Given the description of an element on the screen output the (x, y) to click on. 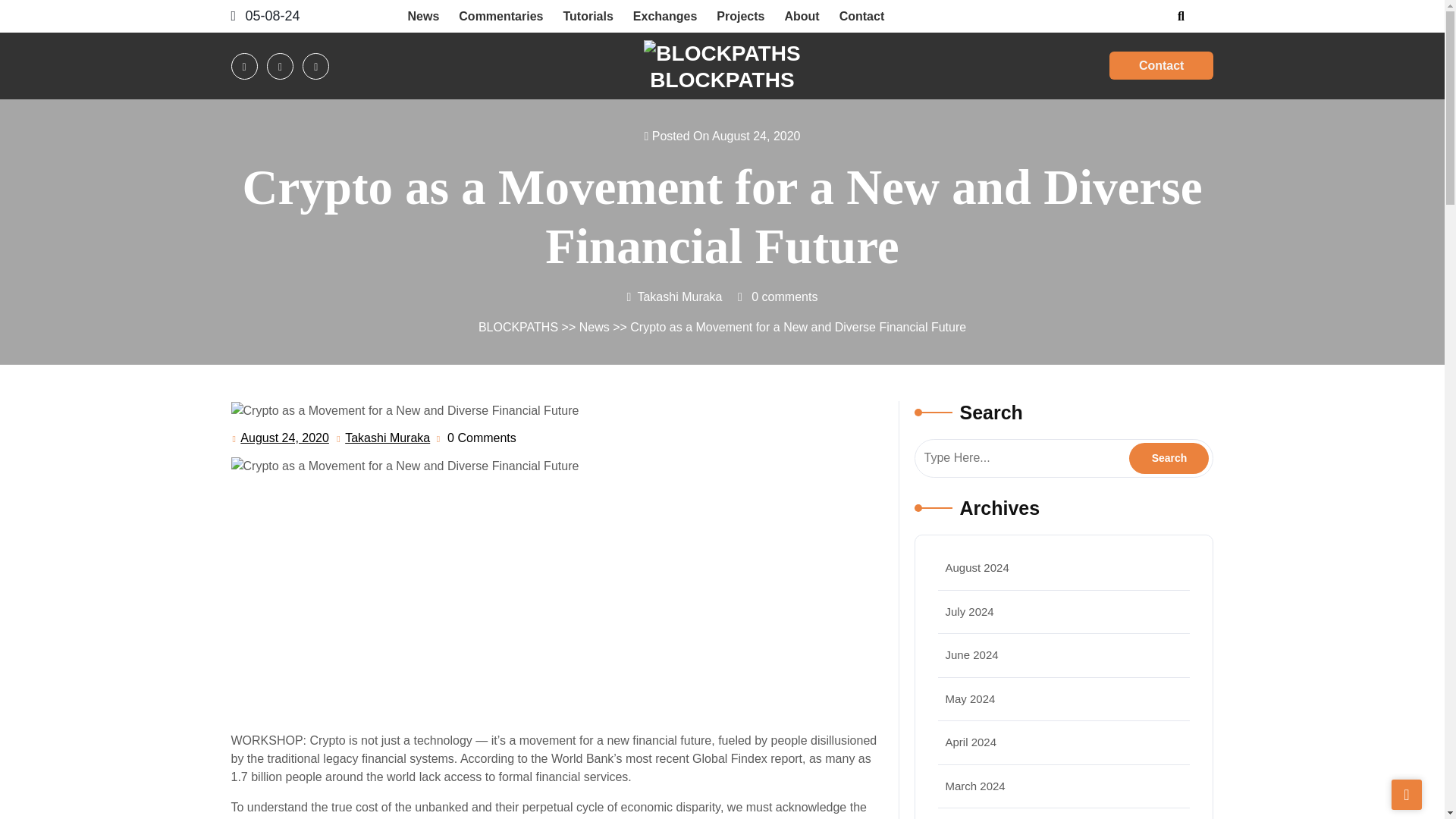
Contact (1161, 65)
Search (1168, 458)
BLOCKPATHS (721, 79)
News (594, 327)
Tutorials (588, 15)
About (801, 15)
Search (1168, 458)
News (422, 15)
August 24, 2020 (284, 437)
BLOCKPATHS (721, 79)
Crypto as a Movement for a New and Diverse Financial Future (404, 466)
Exchanges (664, 15)
April 2024 (969, 741)
August 2024 (976, 567)
BLOCKPATHS (518, 327)
